Given the description of an element on the screen output the (x, y) to click on. 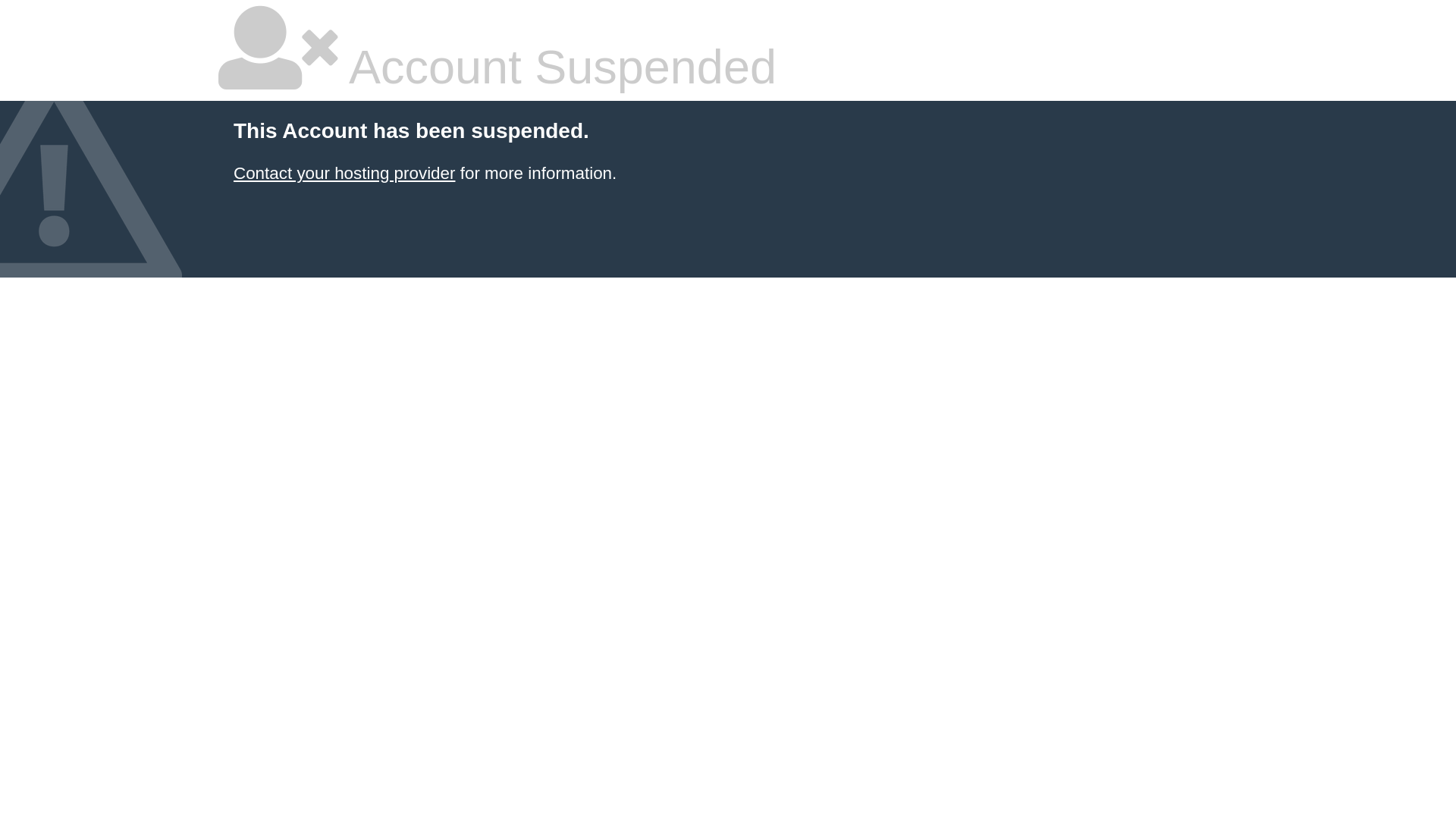
Contact your hosting provider Element type: text (344, 172)
